Given the description of an element on the screen output the (x, y) to click on. 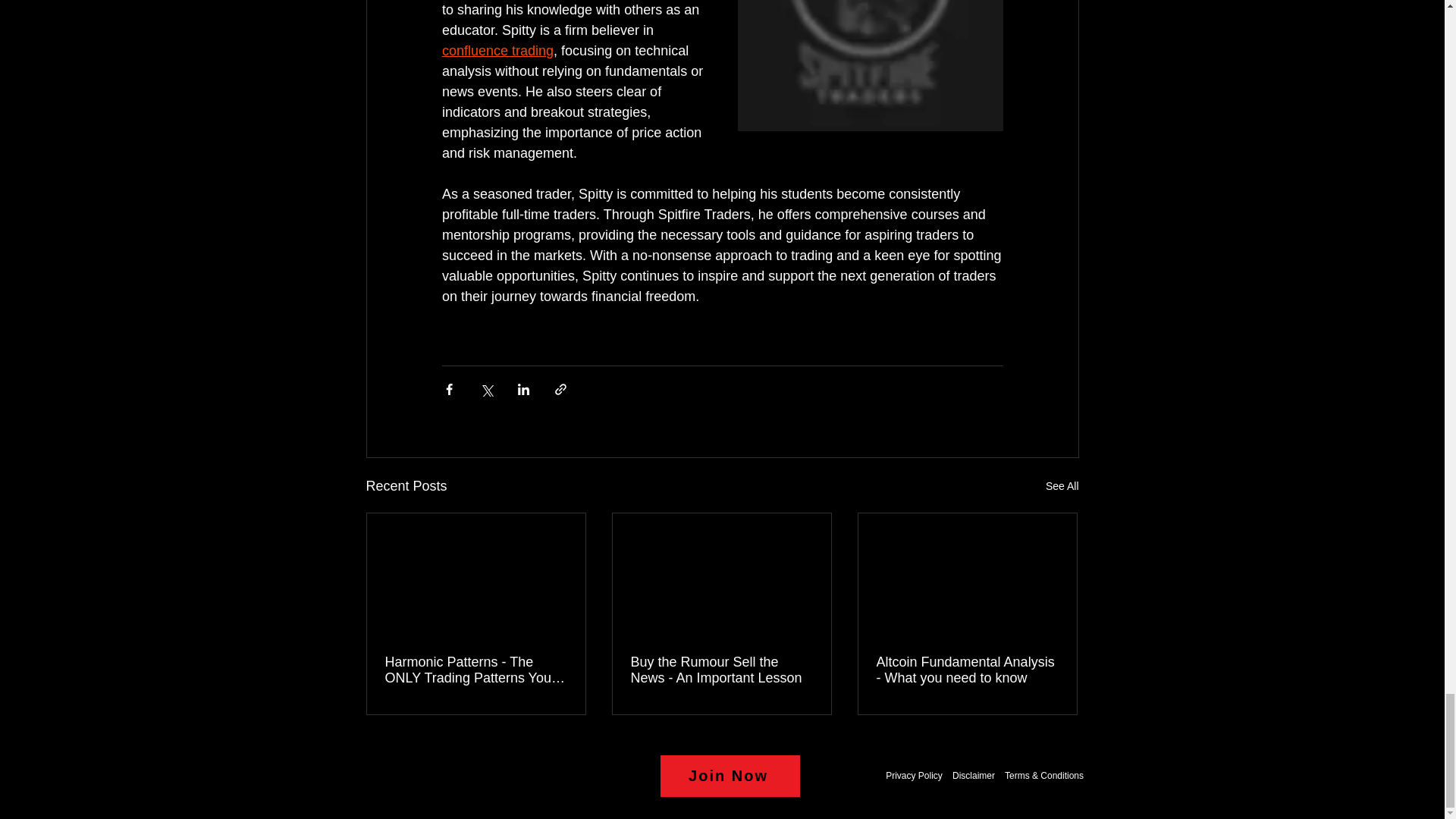
Altcoin Fundamental Analysis - What you need to know (967, 670)
Harmonic Patterns - The ONLY Trading Patterns You Need (476, 670)
See All (1061, 486)
Buy the Rumour Sell the News - An Important Lesson (721, 670)
confluence trading (497, 50)
